Given the description of an element on the screen output the (x, y) to click on. 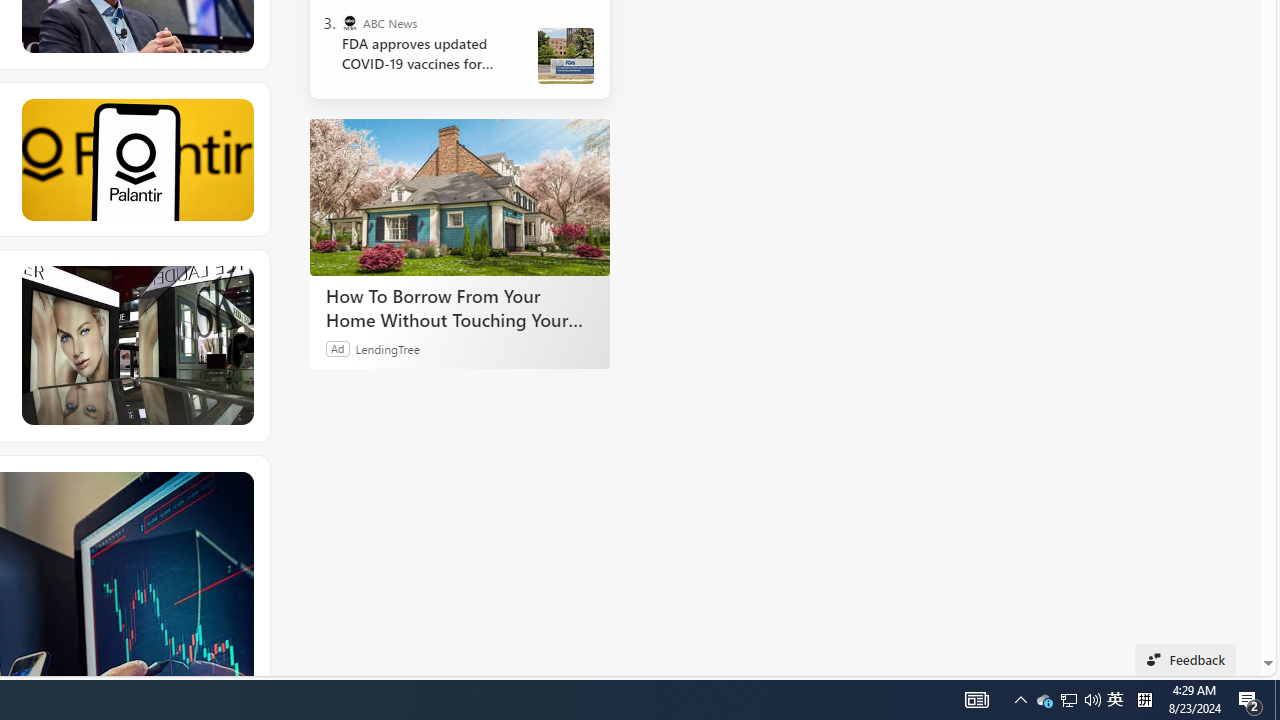
How To Borrow From Your Home Without Touching Your Mortgage (459, 196)
LendingTree (387, 348)
How To Borrow From Your Home Without Touching Your Mortgage (459, 307)
Feedback (1185, 659)
Ad (338, 348)
See more (239, 486)
ABC News (349, 22)
